Given the description of an element on the screen output the (x, y) to click on. 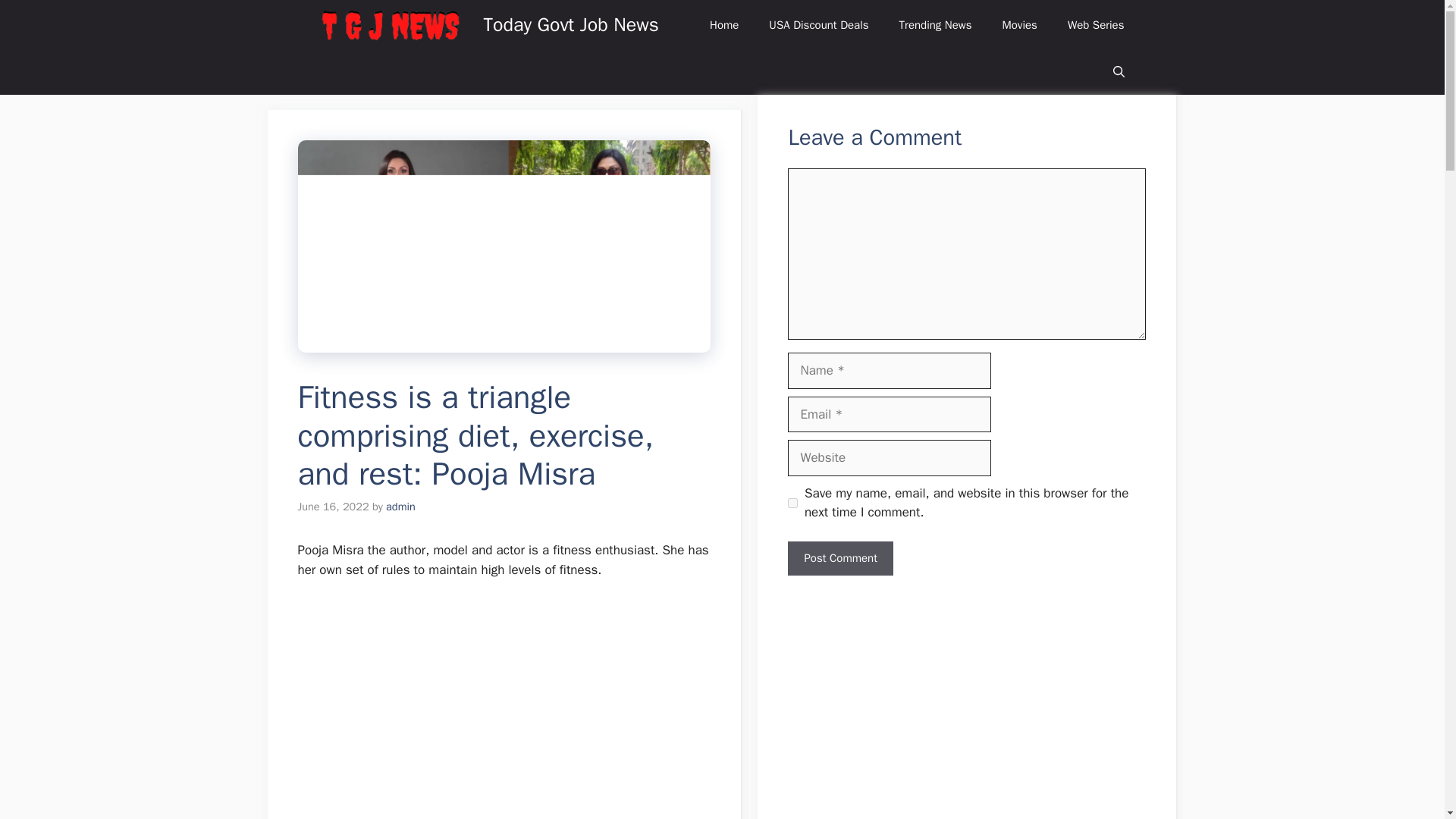
Today Govt Job News (390, 24)
Today Govt Job News (571, 24)
Home (724, 23)
View all posts by admin (399, 506)
Movies (1019, 23)
admin (399, 506)
Advertisement (487, 704)
Web Series (1096, 23)
Post Comment (839, 558)
Post Comment (839, 558)
